Given the description of an element on the screen output the (x, y) to click on. 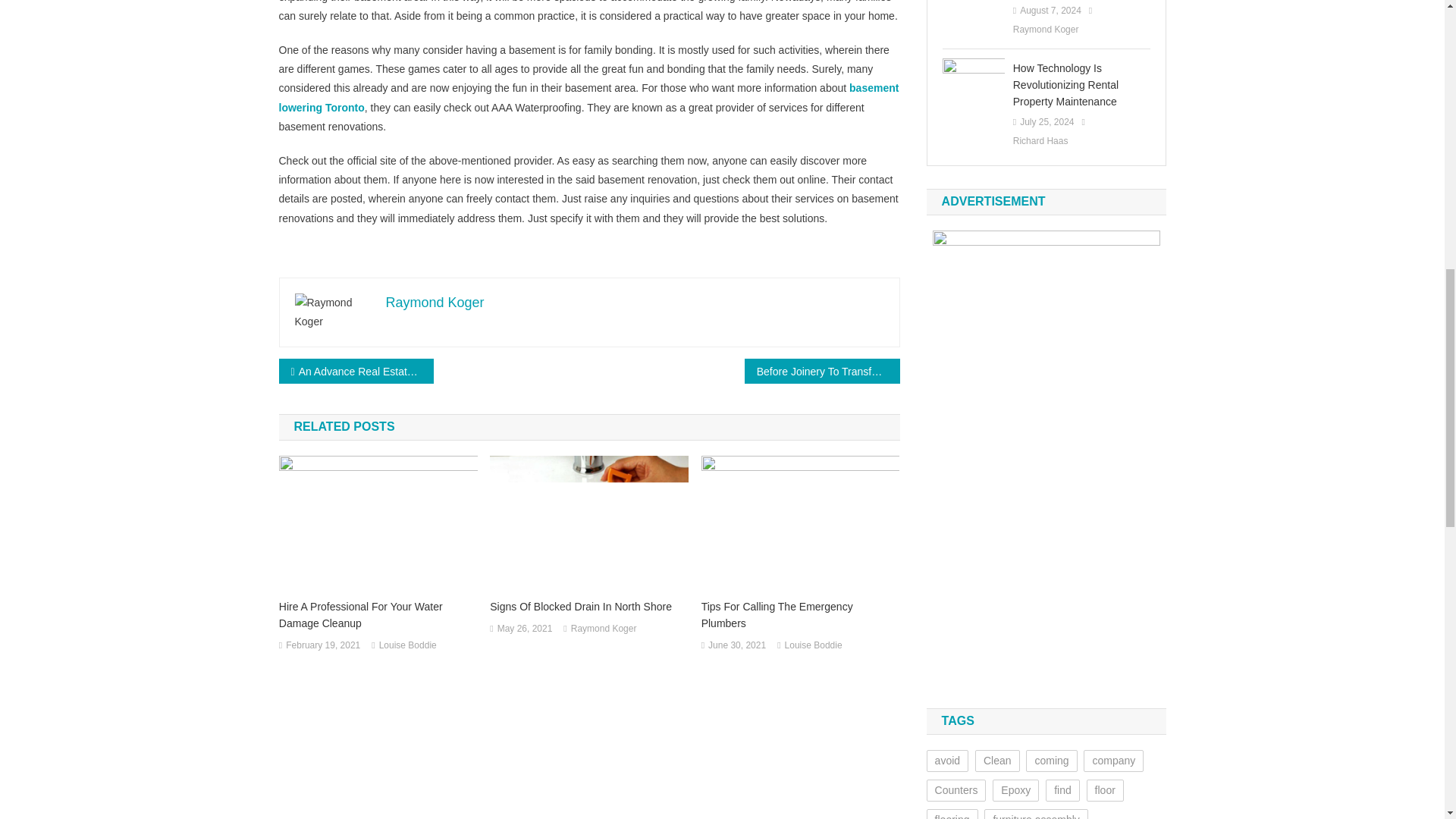
February 19, 2021 (322, 646)
May 26, 2021 (525, 629)
Louise Boddie (813, 646)
Louise Boddie (407, 646)
Signs Of Blocked Drain In North Shore (588, 606)
Before Joinery To Transform Your Home (821, 371)
June 30, 2021 (736, 646)
Raymond Koger (603, 629)
basement lowering Toronto (589, 97)
